Given the description of an element on the screen output the (x, y) to click on. 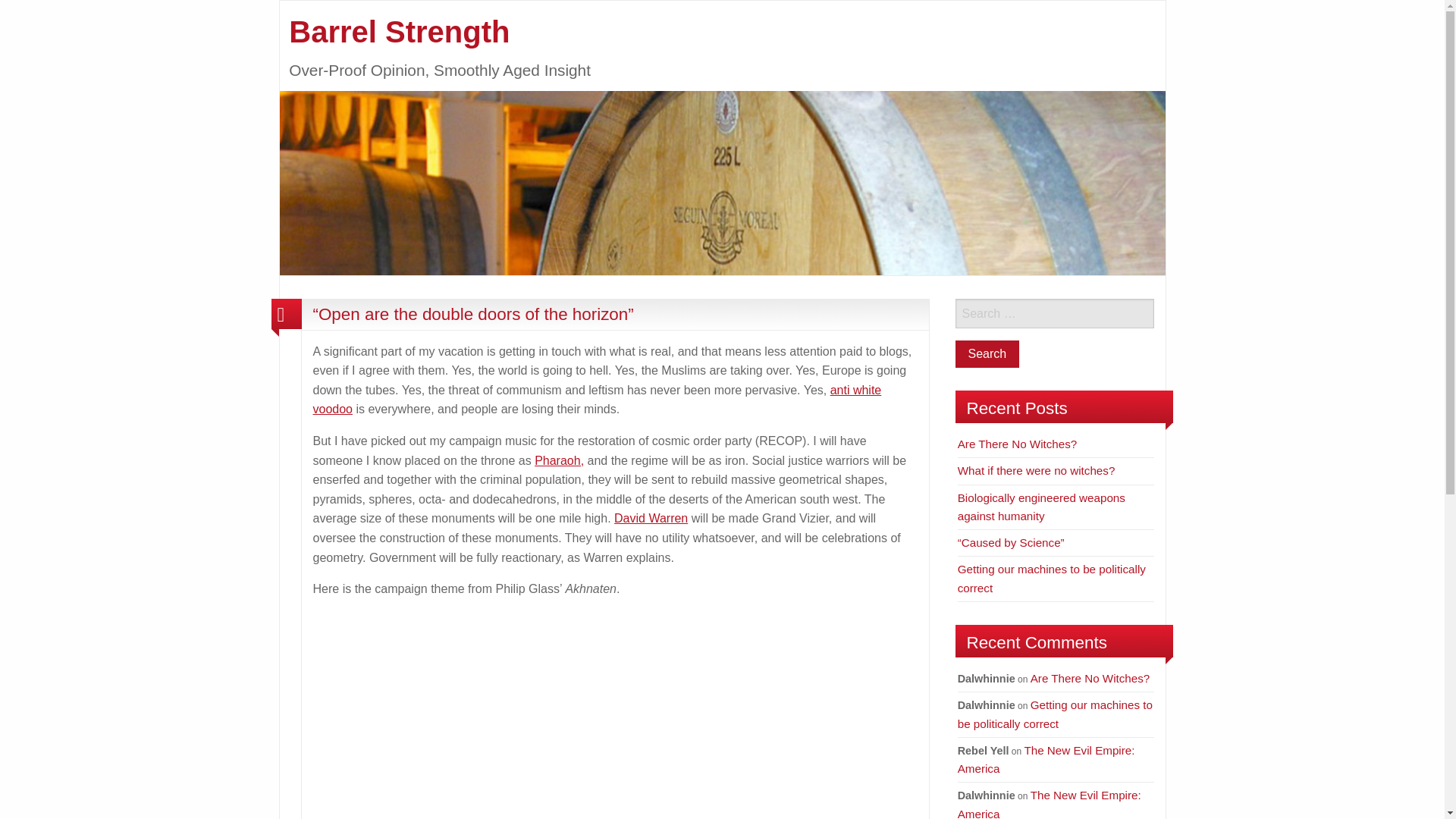
Are There No Witches? (1090, 677)
Search (987, 353)
Getting our machines to be politically correct (1055, 713)
Search (987, 353)
Barrel Strength (721, 182)
Are There No Witches? (1017, 443)
Barrel Strength (398, 31)
Search (987, 353)
Getting our machines to be politically correct (1051, 577)
The New Evil Empire: America (1046, 758)
